Given the description of an element on the screen output the (x, y) to click on. 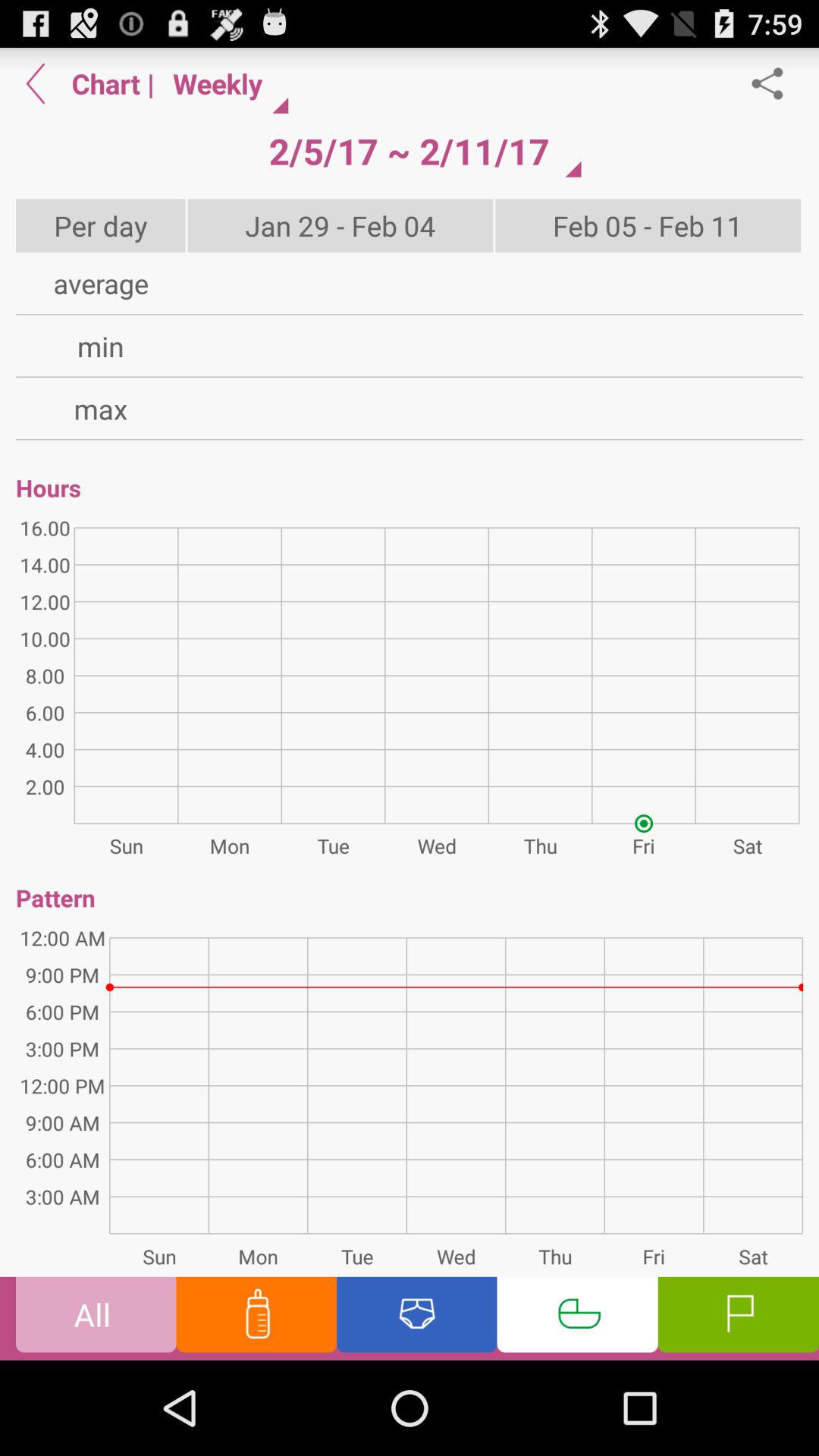
view the milk expenses (256, 1318)
